Given the description of an element on the screen output the (x, y) to click on. 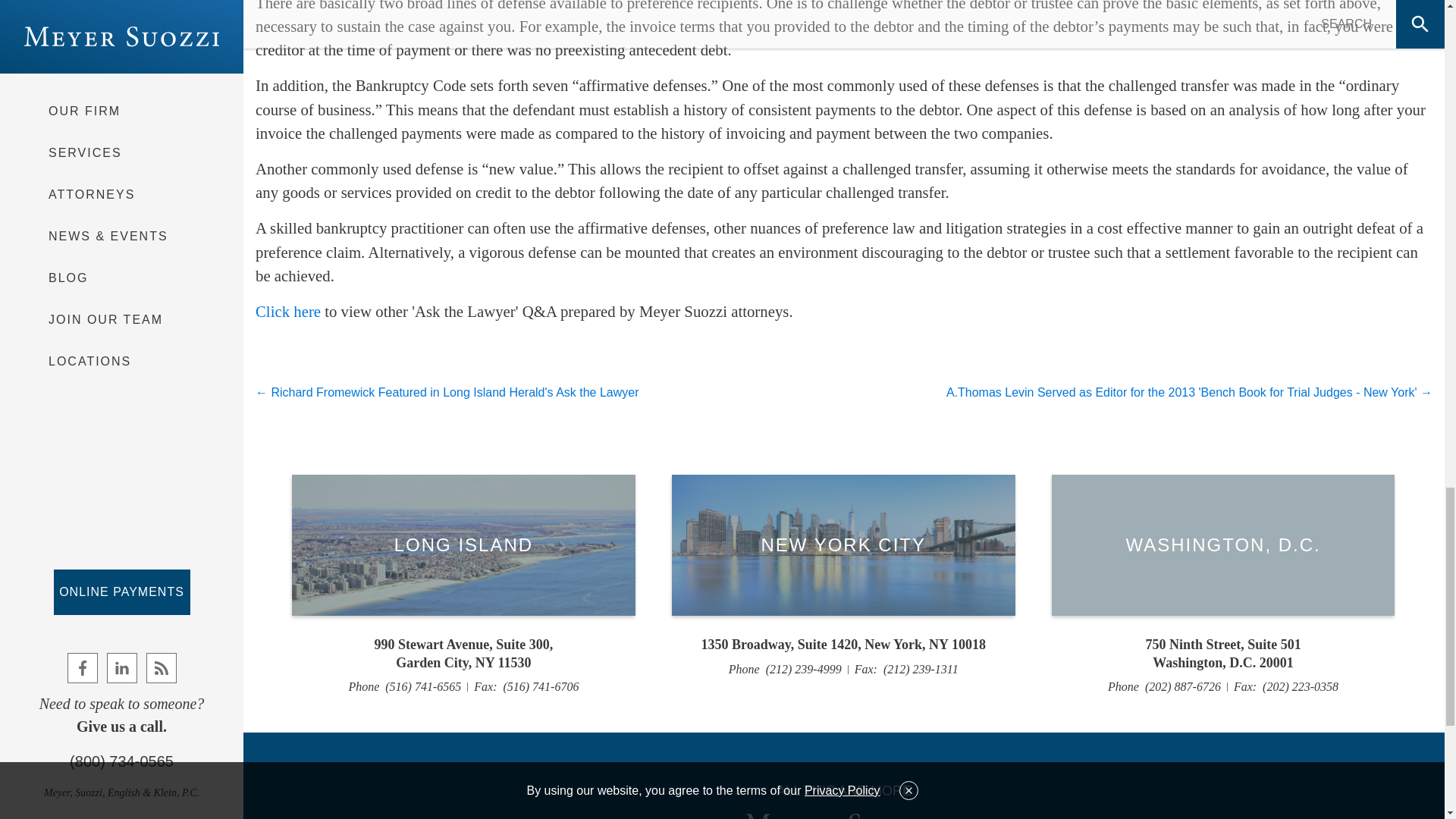
LONG ISLAND (463, 545)
Click here (463, 653)
NEW YORK CITY (1222, 653)
WASHINGTON, D.C. (288, 311)
1350 Broadway, Suite 1420, New York, NY 10018 (842, 545)
